Given the description of an element on the screen output the (x, y) to click on. 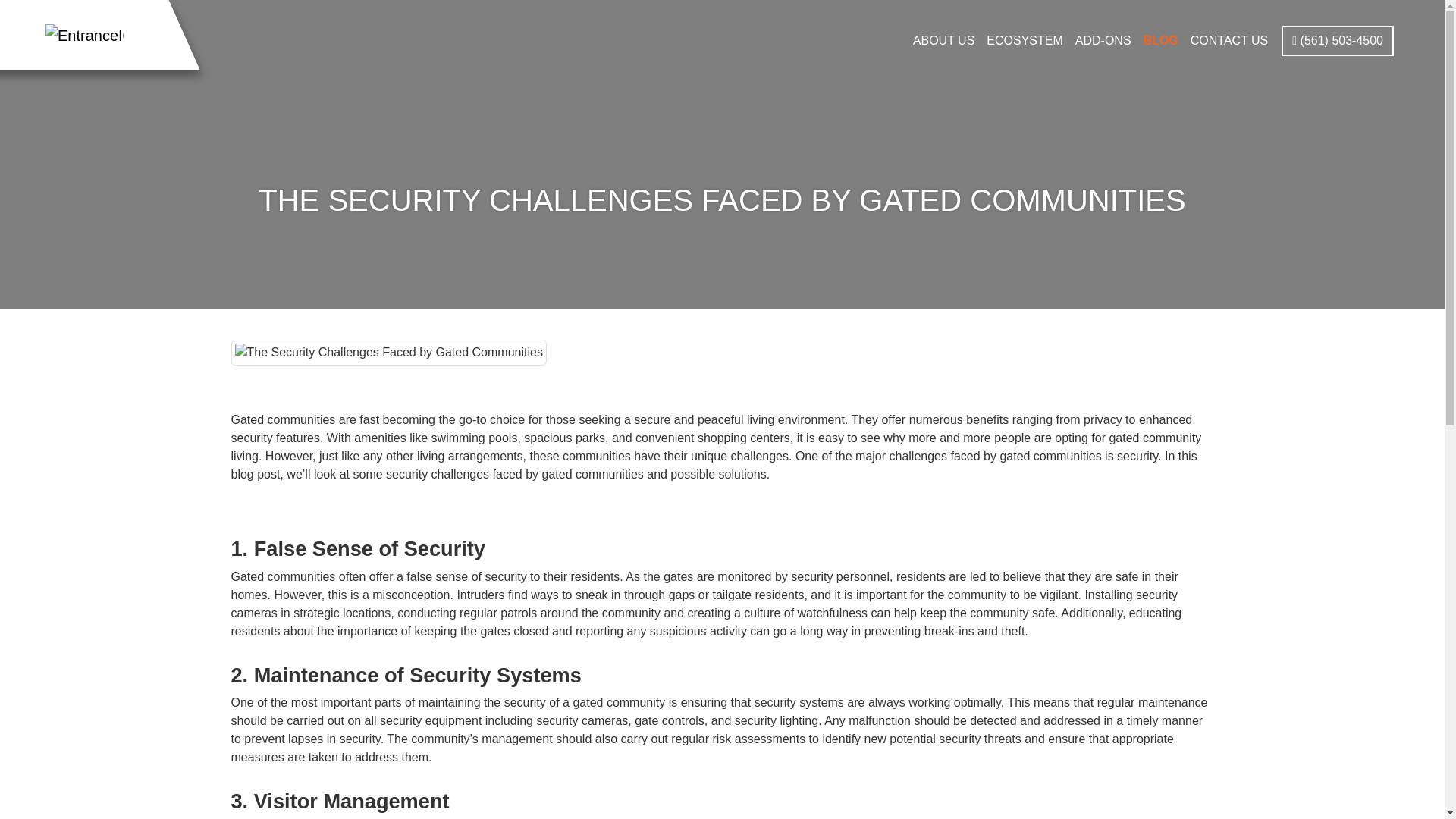
CONTACT US (1230, 40)
ABOUT US (944, 40)
About us (944, 40)
Contact Us (1230, 40)
ADD-ONS (1102, 40)
Blog (1161, 40)
BLOG (1161, 40)
ECOSYSTEM (1023, 40)
Ecosystem (1023, 40)
Add-ons (1102, 40)
